Given the description of an element on the screen output the (x, y) to click on. 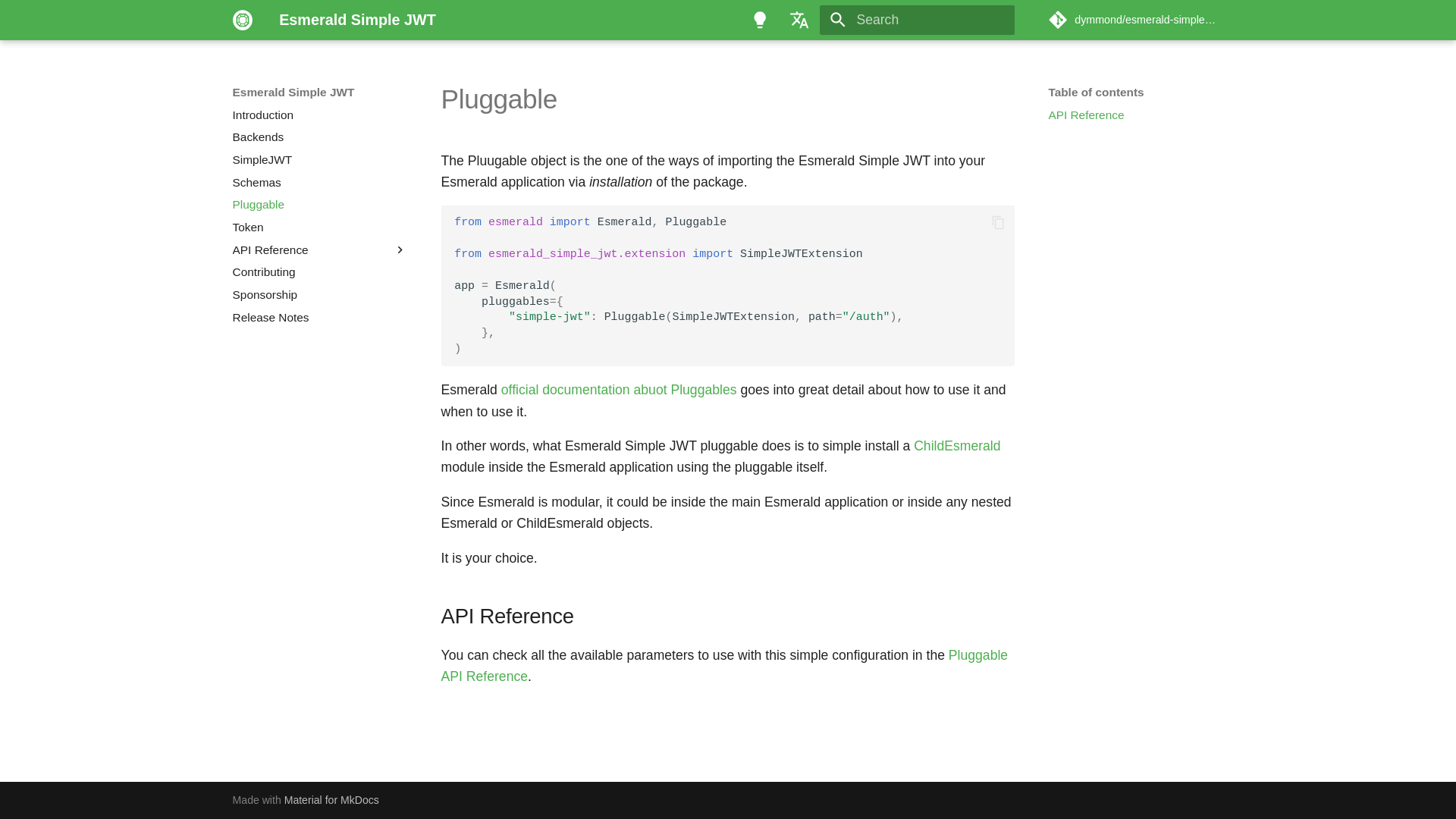
Schemas (319, 182)
Pluggable (319, 204)
Token (319, 227)
Material for MkDocs (330, 799)
Esmerald Simple JWT (242, 19)
Go to repository (1135, 20)
Switch to dark mode (759, 19)
Pluggable API Reference (725, 665)
SimpleJWT (319, 159)
Sponsorship (319, 294)
API Reference (1135, 114)
Contributing (319, 272)
Introduction (319, 114)
Copy to clipboard (997, 221)
official documentation abuot Pluggables (618, 389)
